Given the description of an element on the screen output the (x, y) to click on. 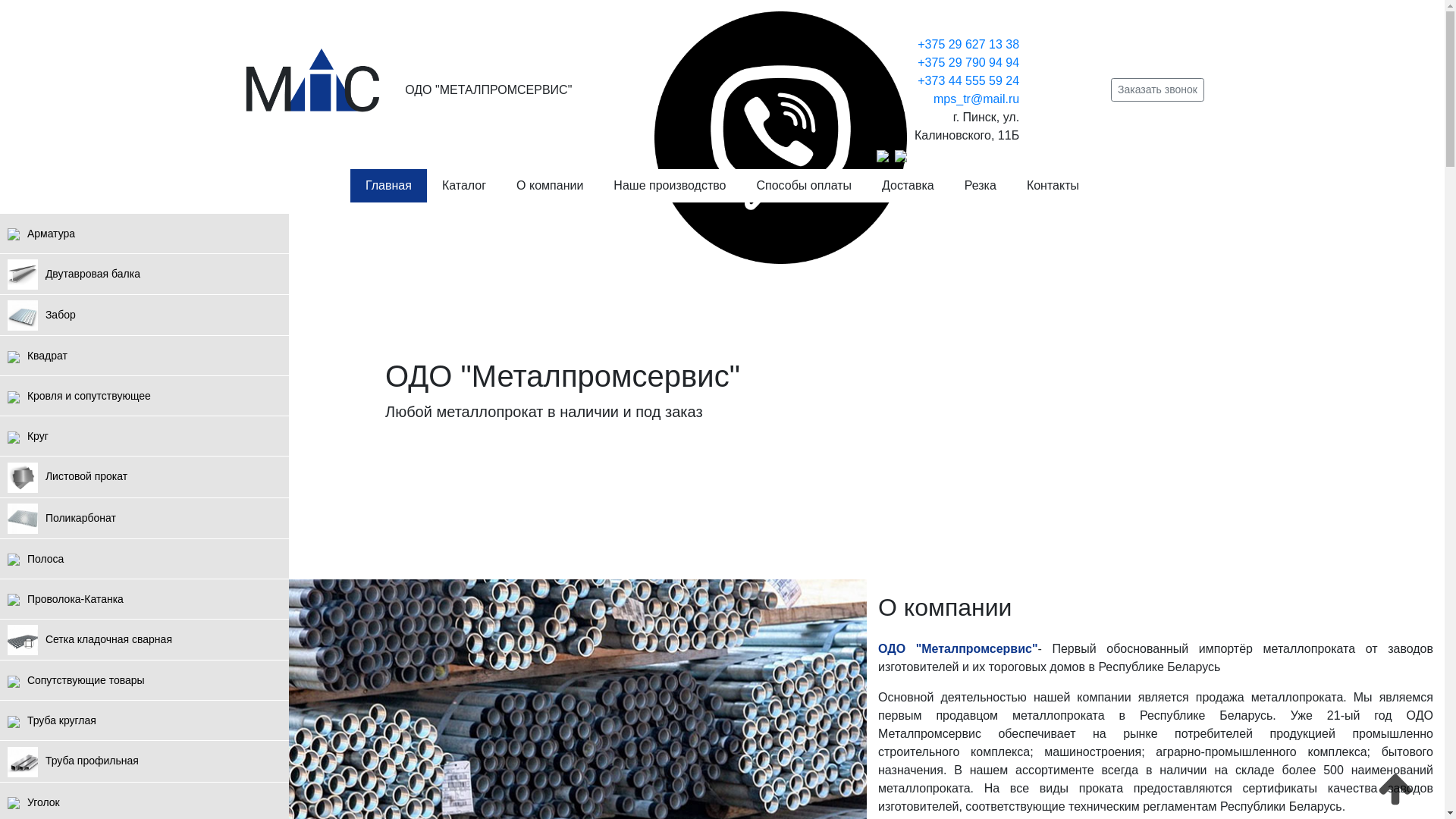
+373 44 555 59 24 Element type: text (968, 80)
+375 29 627 13 38 Element type: text (968, 43)
mps_tr@mail.ru Element type: text (976, 98)
+375 29 790 94 94 Element type: text (968, 62)
